Given the description of an element on the screen output the (x, y) to click on. 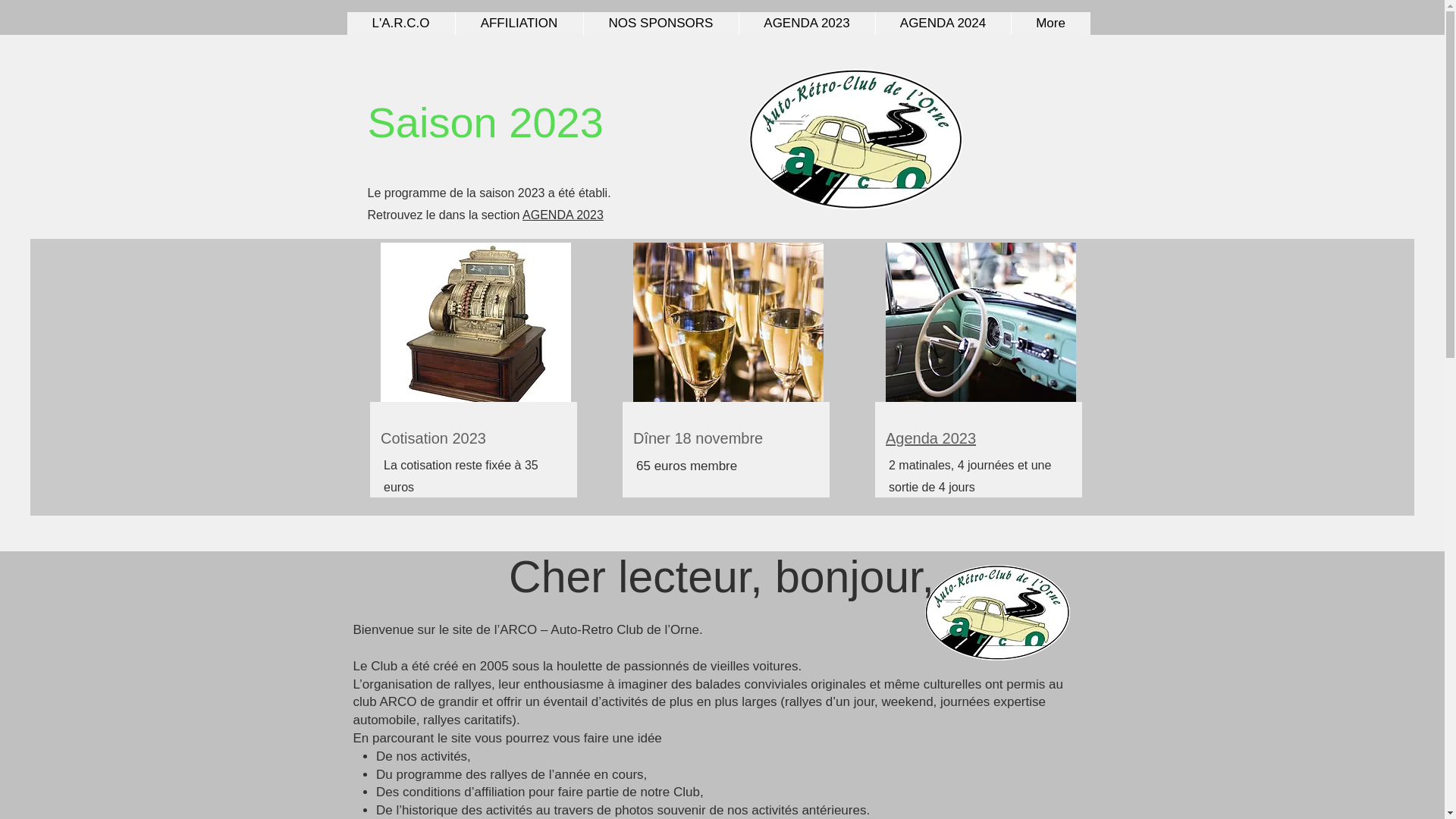
Agenda 2023 Element type: text (930, 437)
NOS SPONSORS Element type: text (659, 23)
AGENDA 2023 Element type: text (562, 214)
AGENDA 2023 Element type: text (806, 23)
AGENDA 2024 Element type: text (942, 23)
AFFILIATION Element type: text (519, 23)
